Given the description of an element on the screen output the (x, y) to click on. 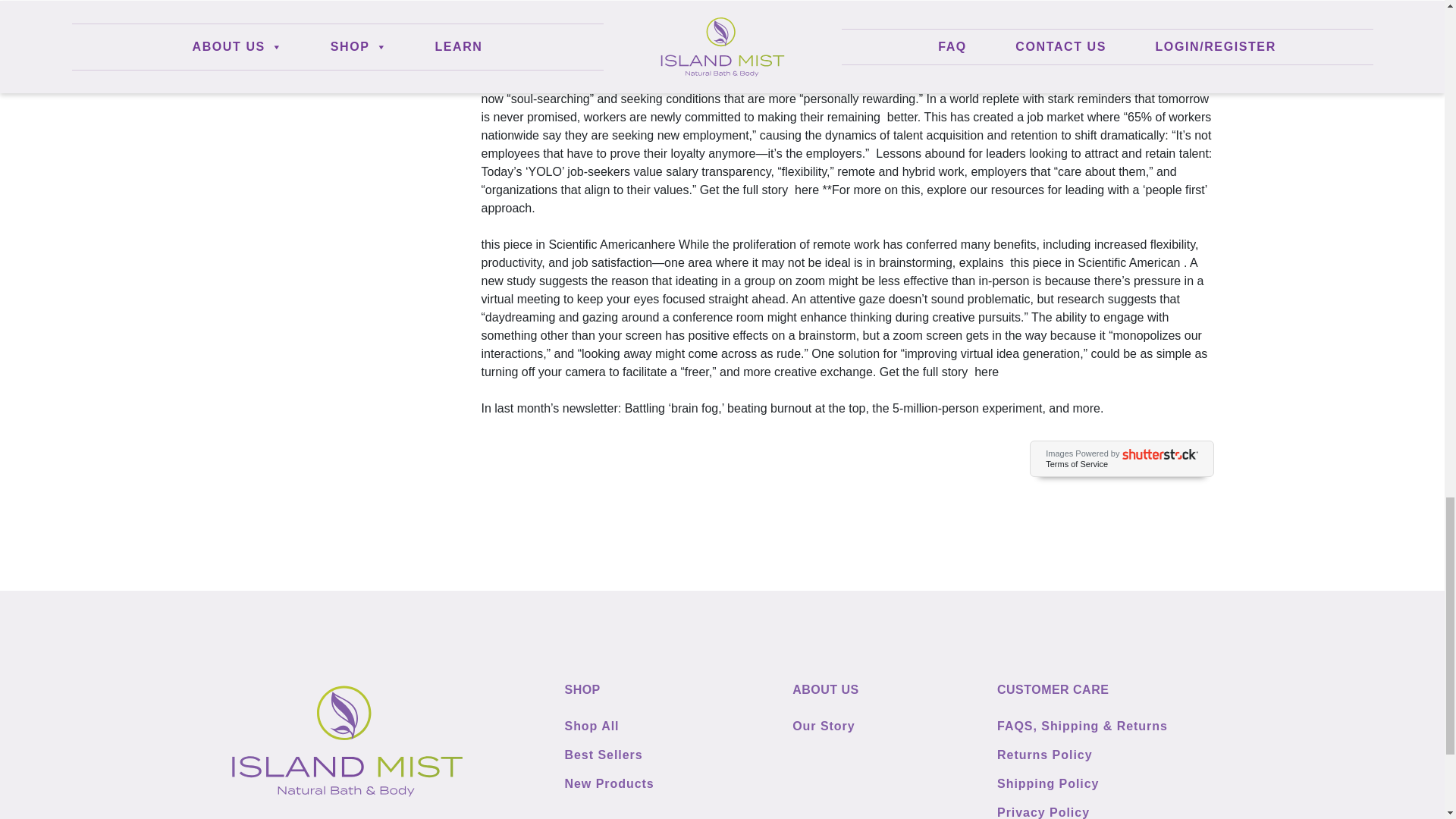
Island Mist Logo (346, 741)
